Given the description of an element on the screen output the (x, y) to click on. 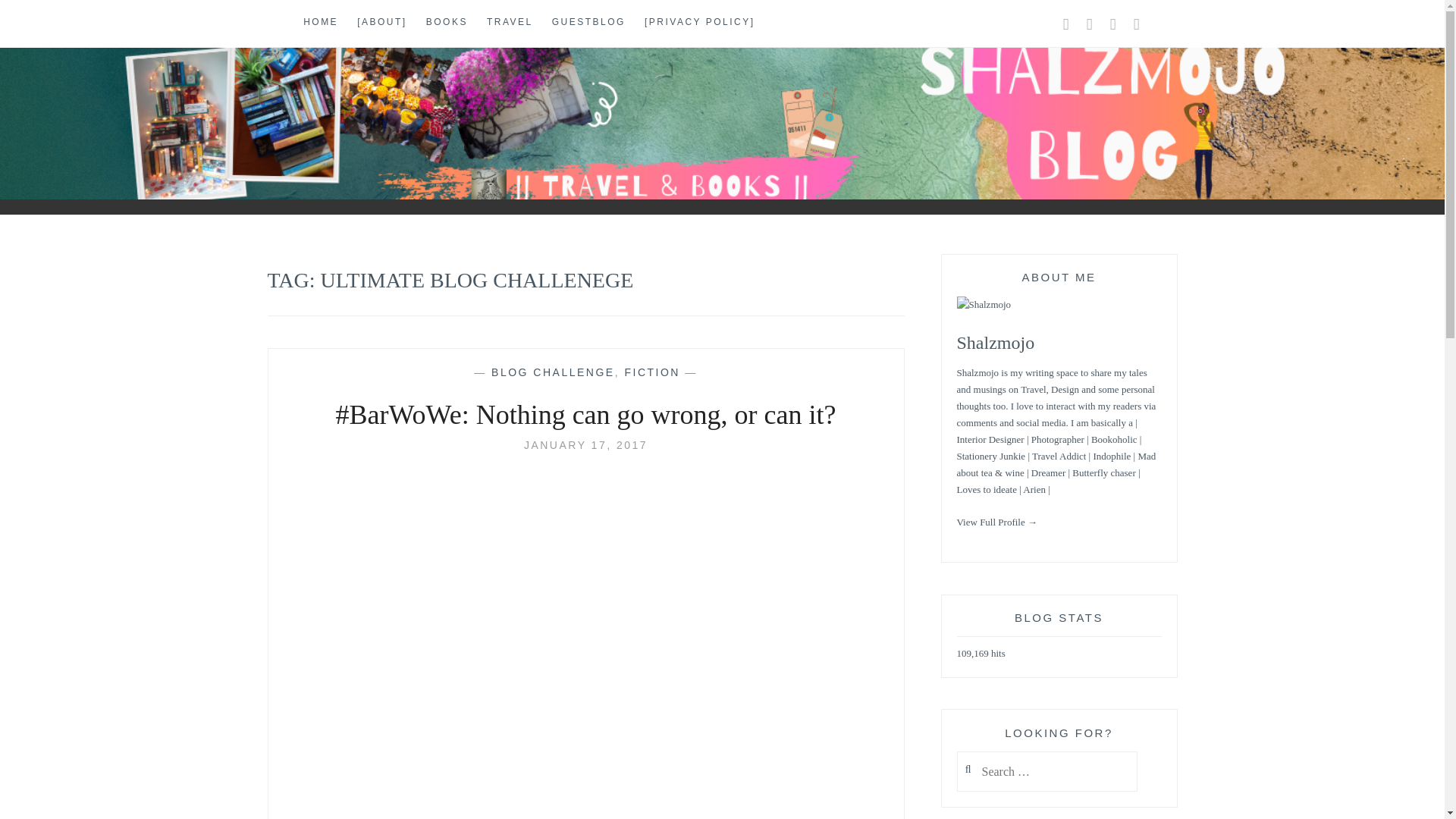
Shalzmojo (995, 342)
SHALZMOJO (132, 142)
FICTION (651, 372)
GUESTBLOG (588, 22)
HOME (319, 22)
BOOKS (446, 22)
JANUARY 17, 2017 (585, 444)
Search (42, 19)
TRAVEL (509, 22)
BLOG CHALLENGE (553, 372)
